Given the description of an element on the screen output the (x, y) to click on. 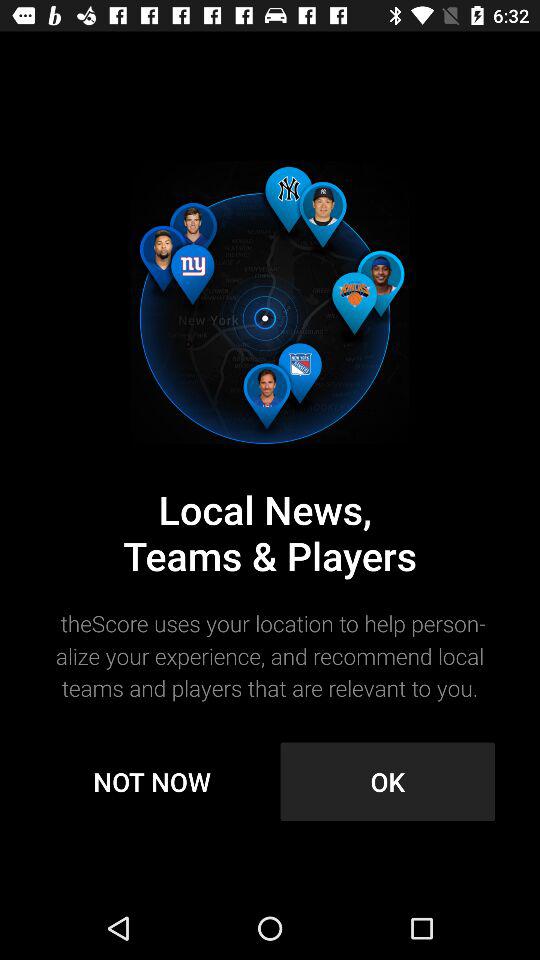
flip to the ok item (387, 781)
